Given the description of an element on the screen output the (x, y) to click on. 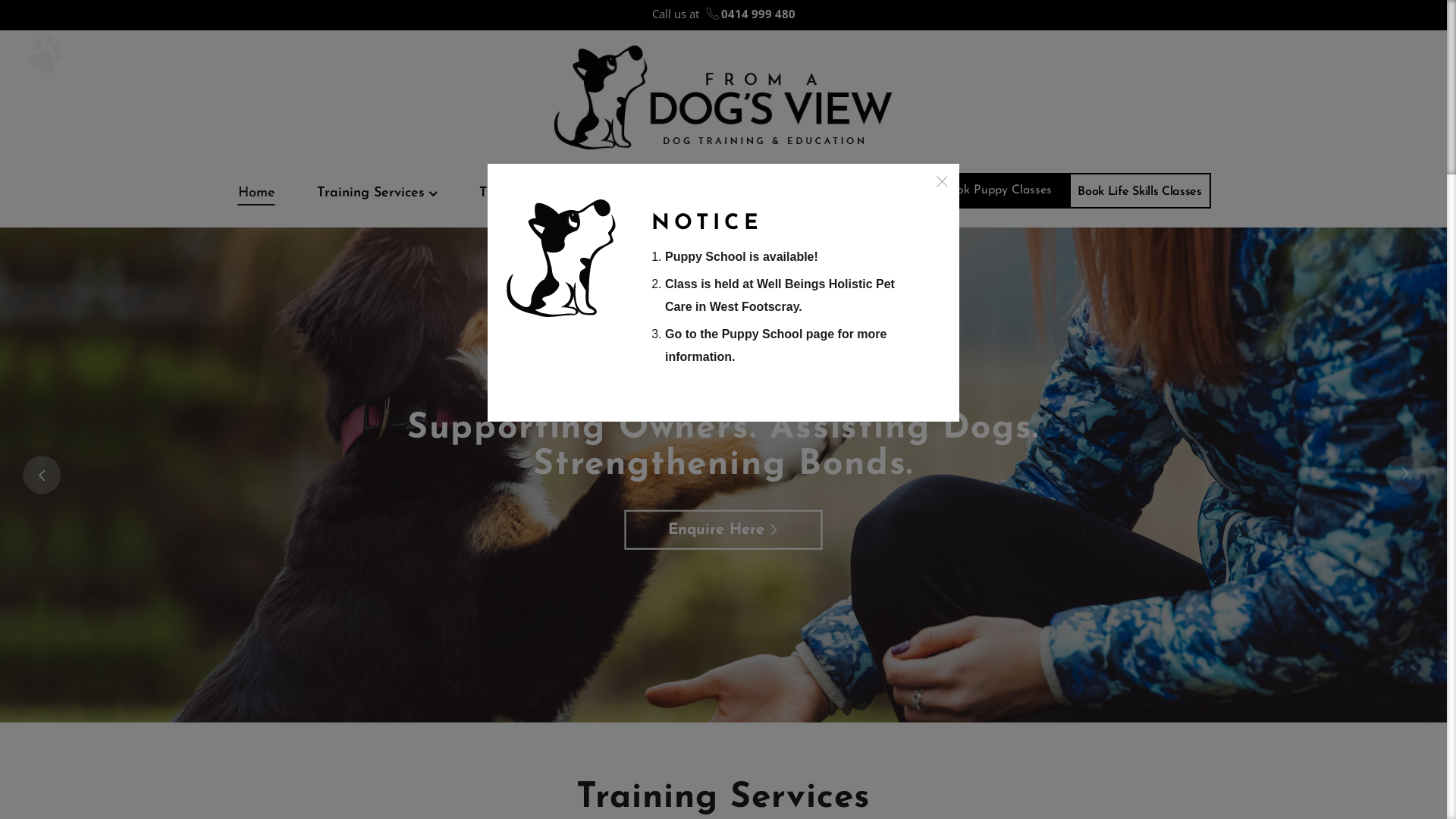
Training Prices Element type: text (525, 200)
Book Life Skills Classes Element type: text (1139, 190)
Contact Element type: text (823, 200)
Training Services Element type: text (376, 200)
0414 999 480 Element type: text (757, 13)
Book Puppy Classes Element type: text (996, 190)
About Element type: text (640, 200)
Gallery Element type: text (737, 200)
Home Element type: text (266, 200)
x Element type: text (940, 182)
